Given the description of an element on the screen output the (x, y) to click on. 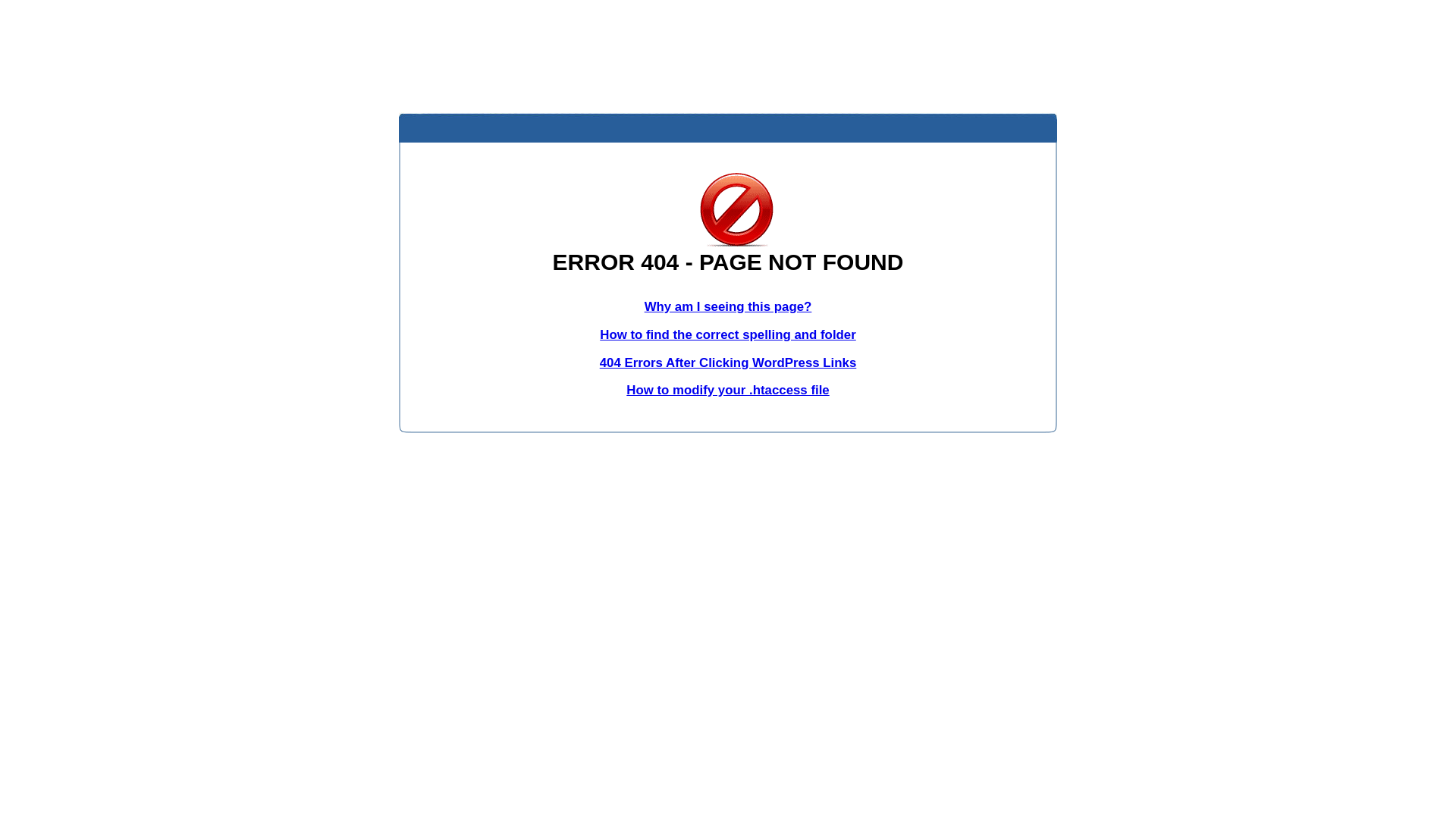
How to modify your .htaccess file Element type: text (727, 389)
How to find the correct spelling and folder Element type: text (727, 334)
Why am I seeing this page? Element type: text (728, 306)
404 Errors After Clicking WordPress Links Element type: text (727, 362)
